Given the description of an element on the screen output the (x, y) to click on. 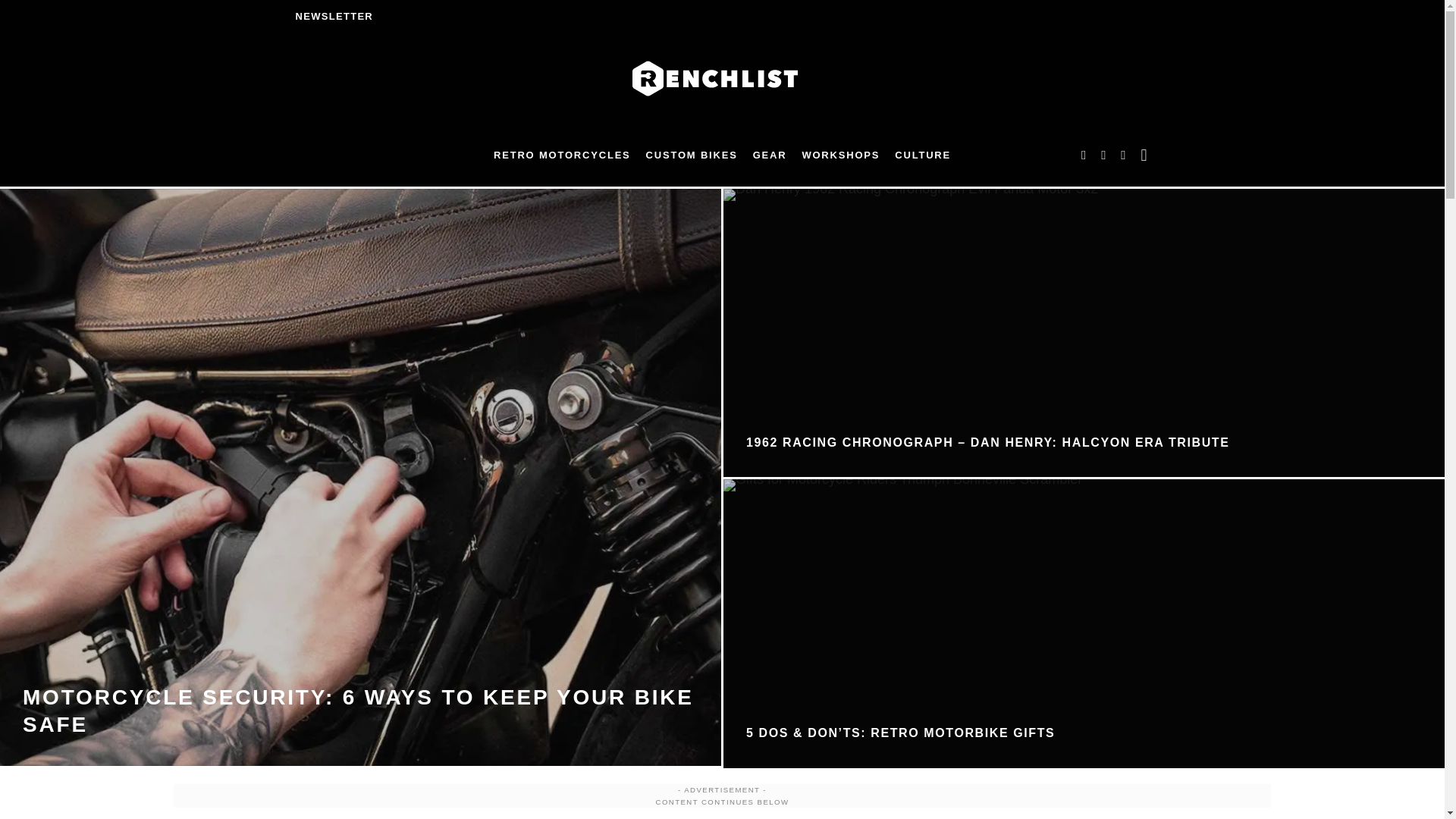
CULTURE (922, 154)
GEAR (769, 154)
WORKSHOPS (839, 154)
CUSTOM BIKES (692, 154)
MOTORCYCLE SECURITY: 6 WAYS TO KEEP YOUR BIKE SAFE (358, 710)
NEWSLETTER (333, 16)
RETRO MOTORCYCLES (562, 154)
